Given the description of an element on the screen output the (x, y) to click on. 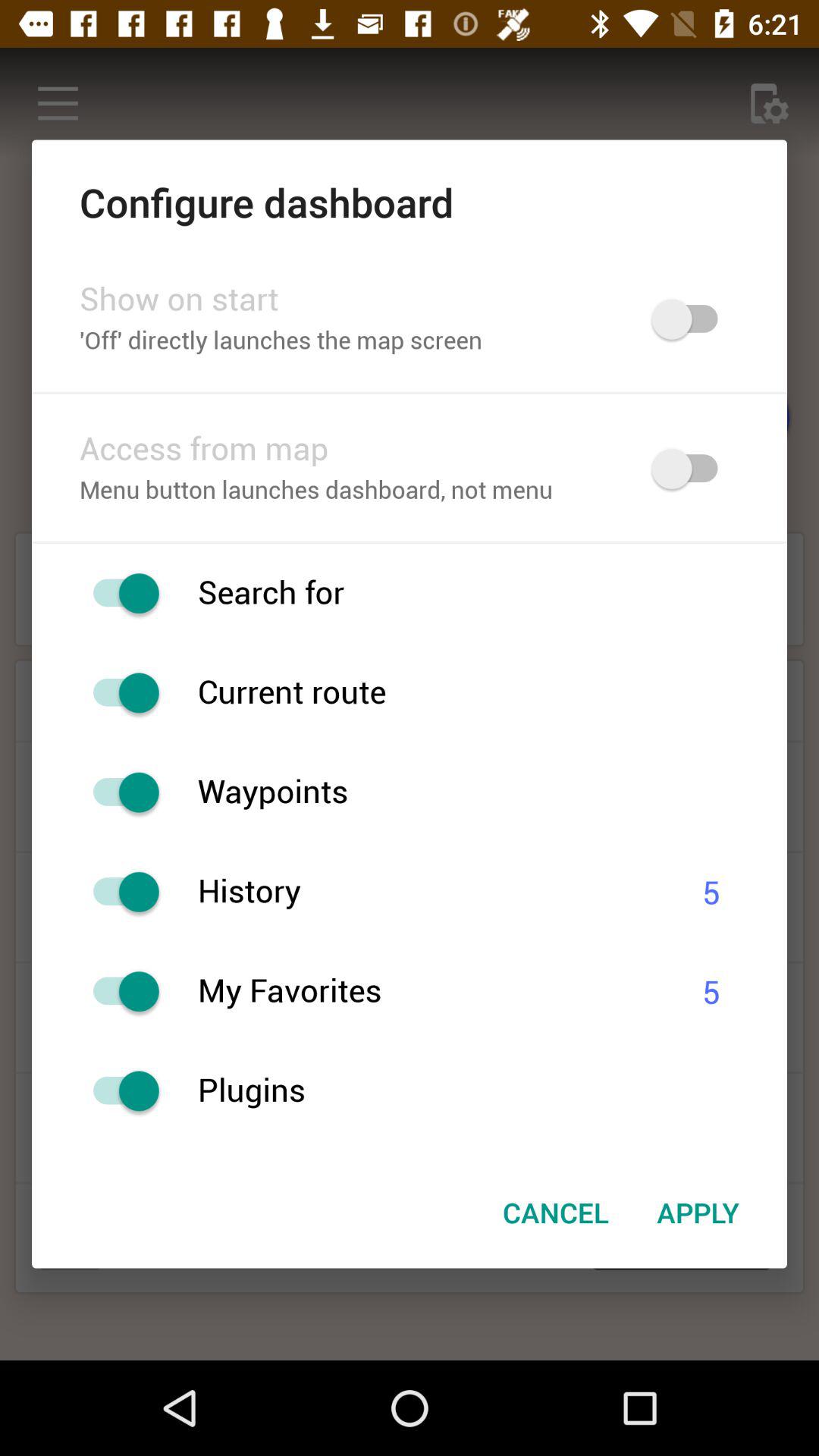
menu button (118, 1091)
